Given the description of an element on the screen output the (x, y) to click on. 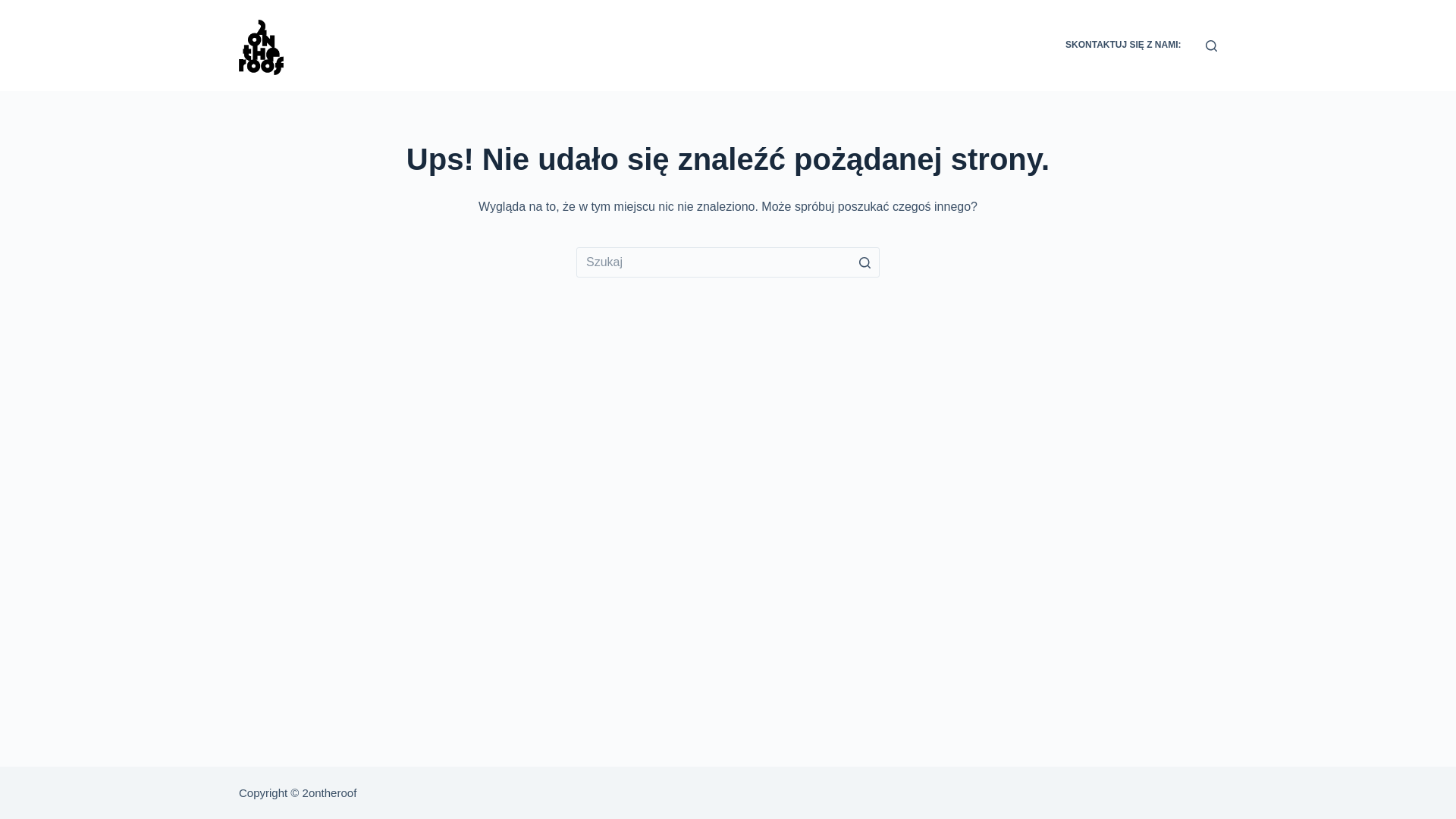
Szukaj... Element type: hover (727, 262)
